Given the description of an element on the screen output the (x, y) to click on. 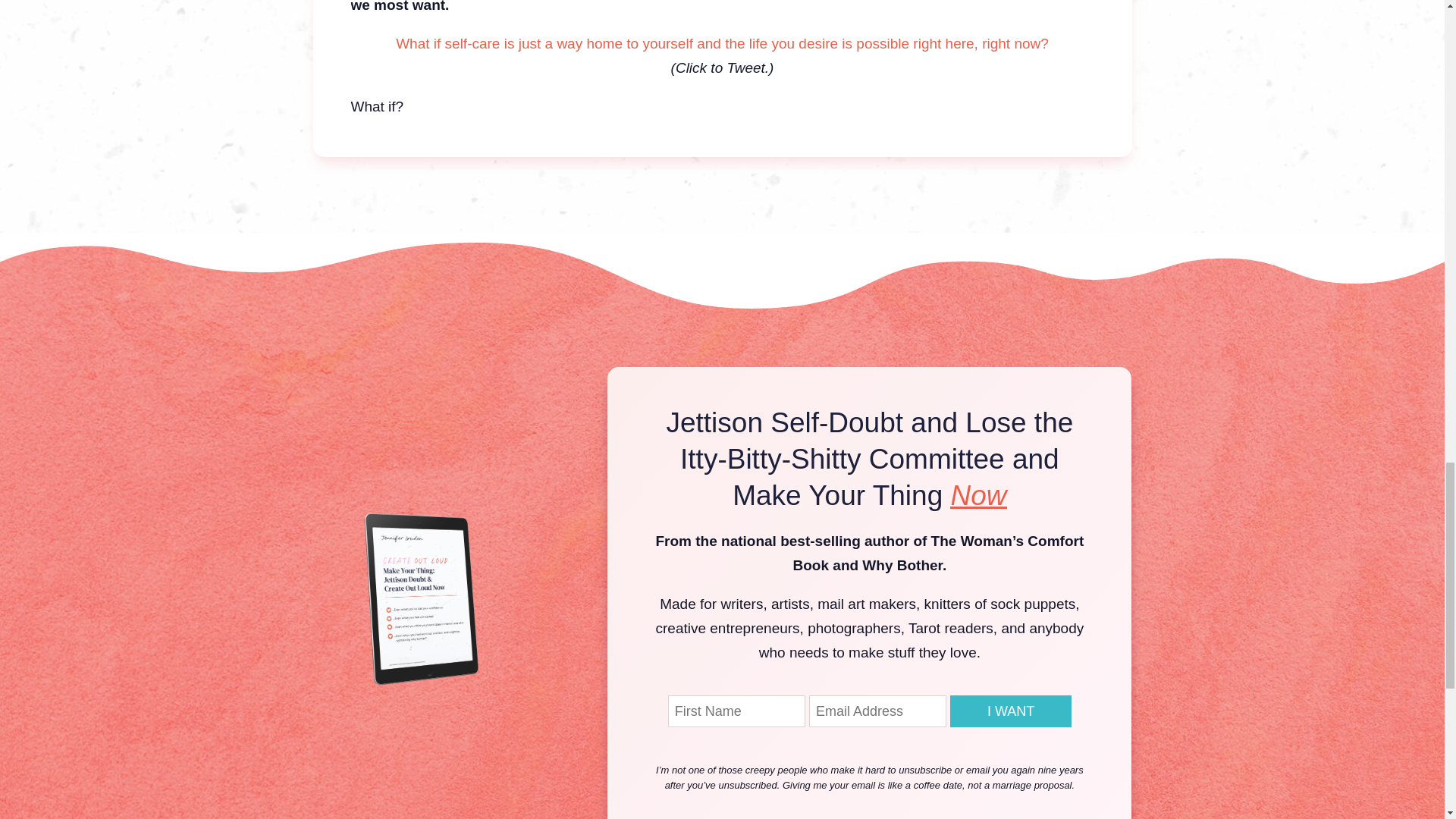
1651736701 (427, 598)
